Given the description of an element on the screen output the (x, y) to click on. 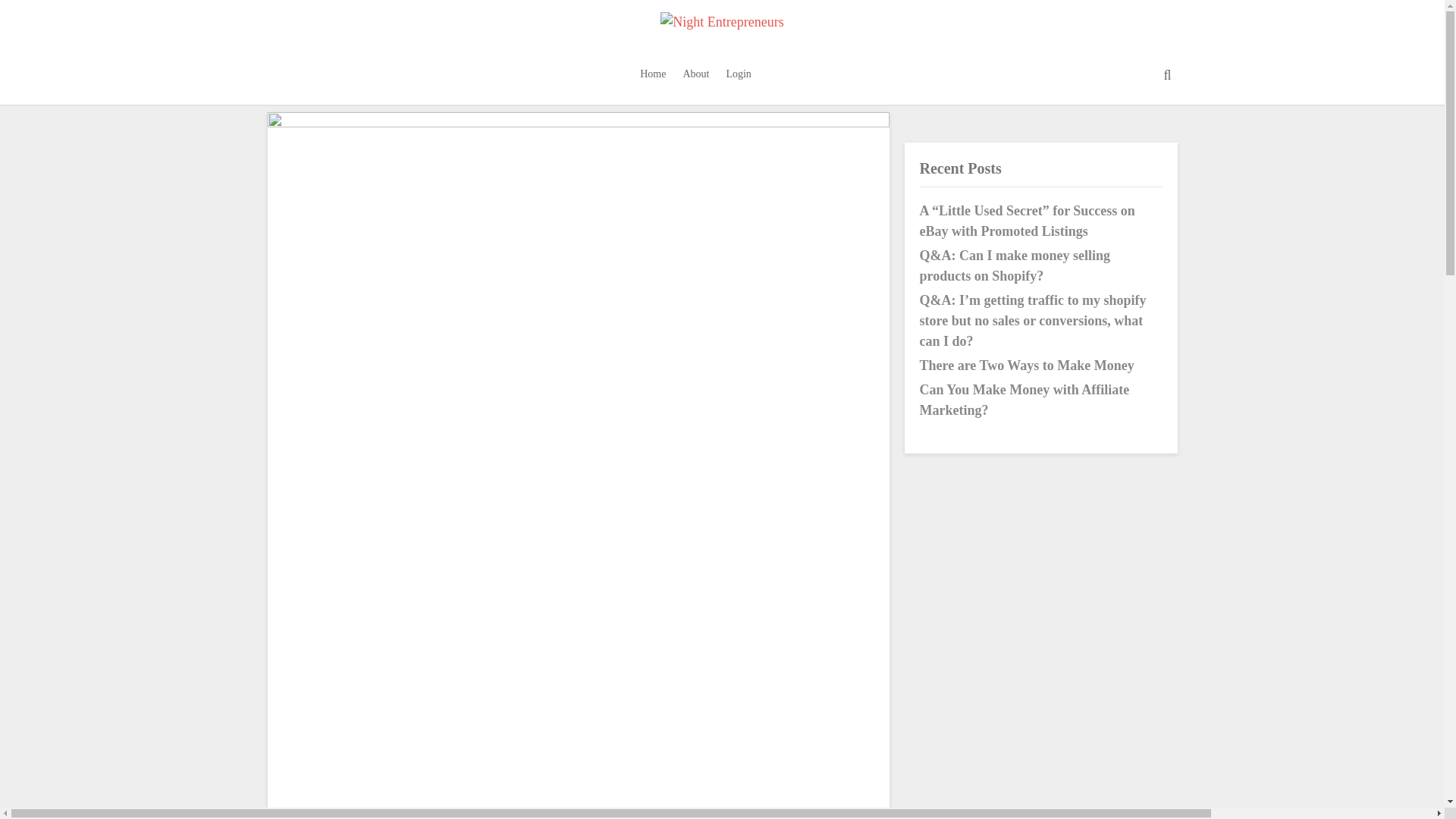
About (695, 73)
Can You Make Money with Affiliate Marketing? (1023, 399)
There are Two Ways to Make Money (1026, 365)
Login (737, 73)
Home (652, 73)
